Given the description of an element on the screen output the (x, y) to click on. 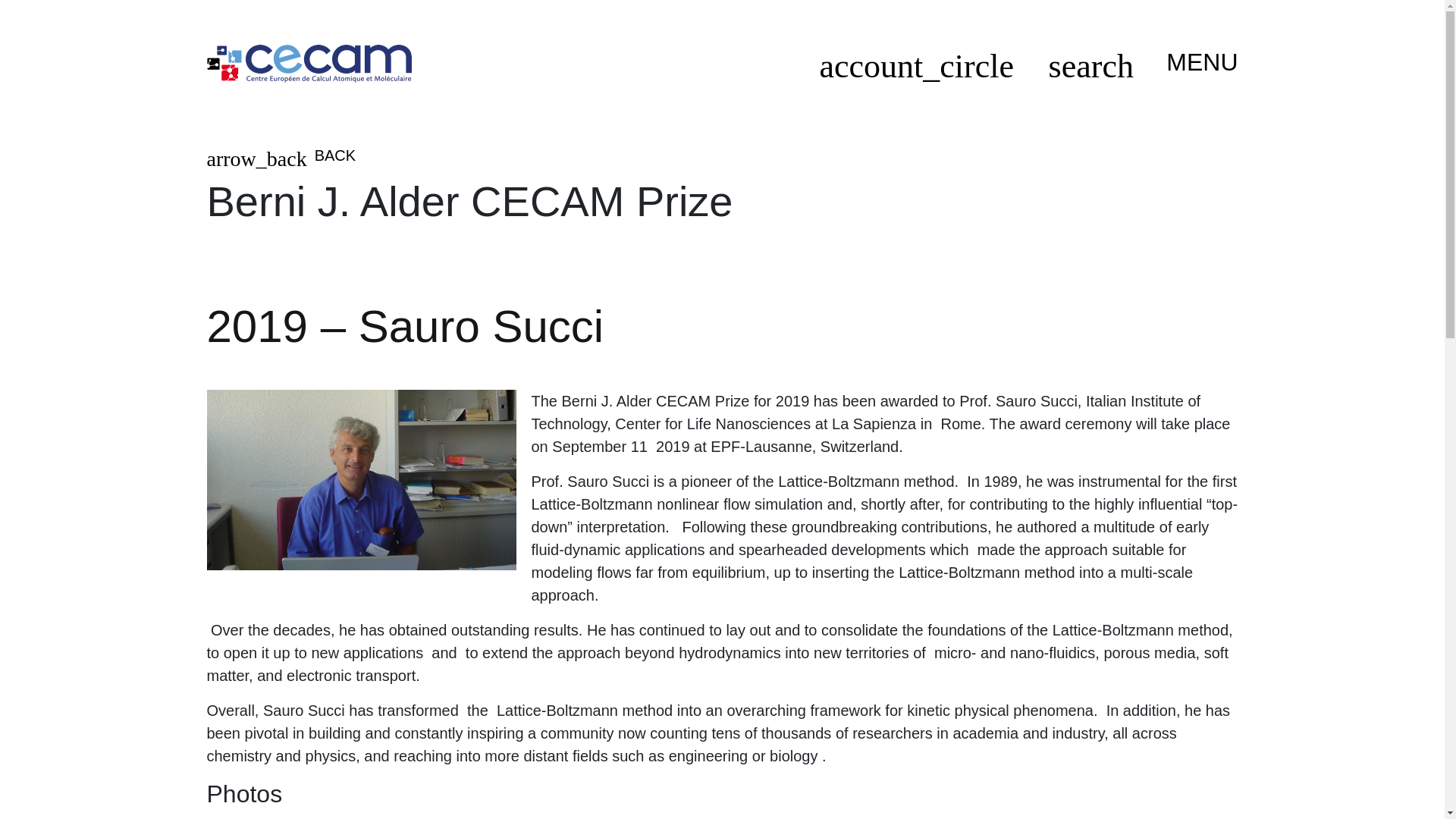
search (1091, 71)
MENU (1195, 62)
Login (915, 71)
